Given the description of an element on the screen output the (x, y) to click on. 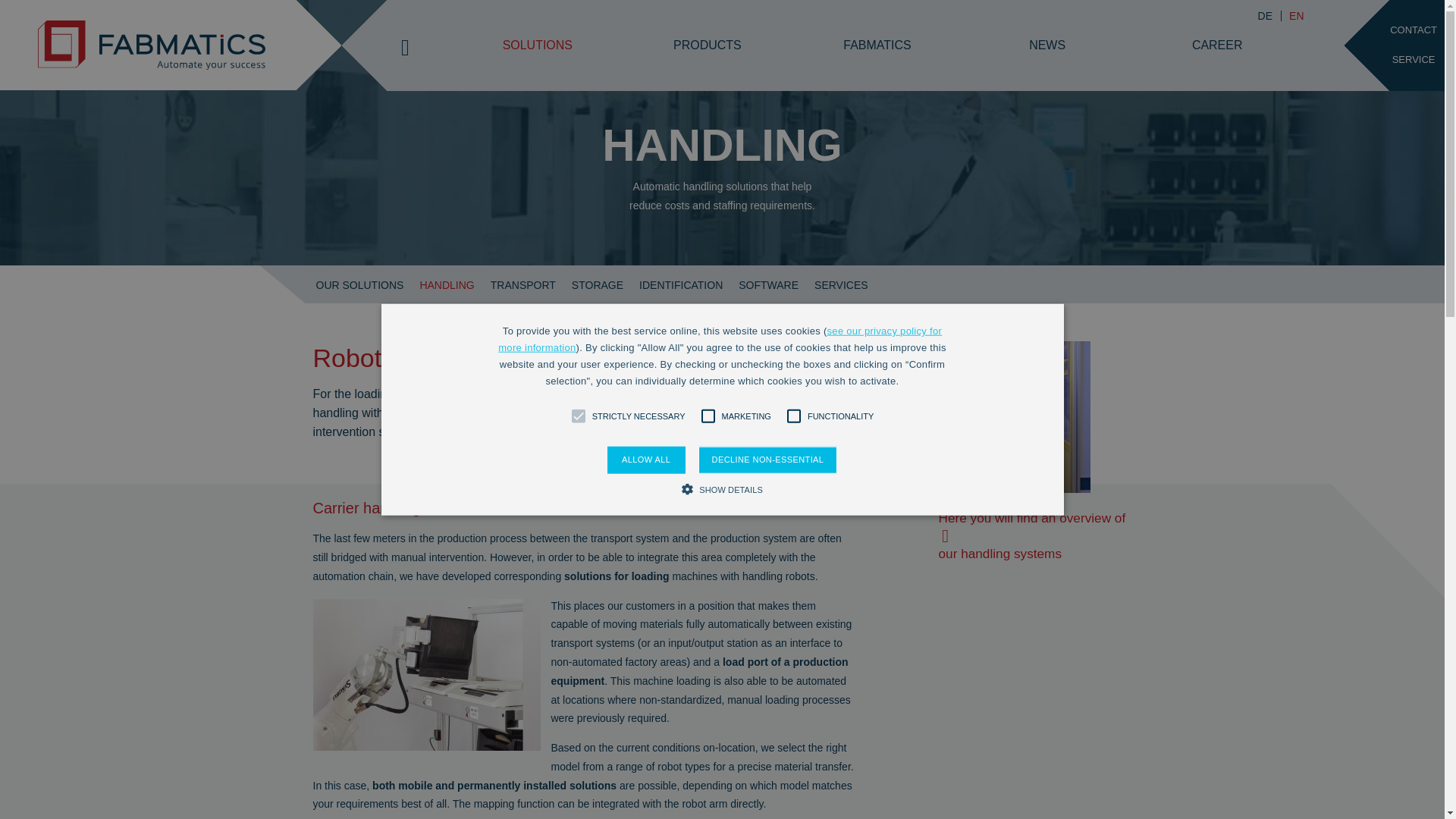
FABMATICS (876, 44)
200mm Carrier Handling (426, 674)
CAREER (1216, 44)
English (1296, 15)
German (1264, 15)
EN (1296, 15)
Here you will find an overview of (1032, 526)
CONTACT (1413, 30)
SERVICES (848, 279)
SOFTWARE (775, 279)
